Given the description of an element on the screen output the (x, y) to click on. 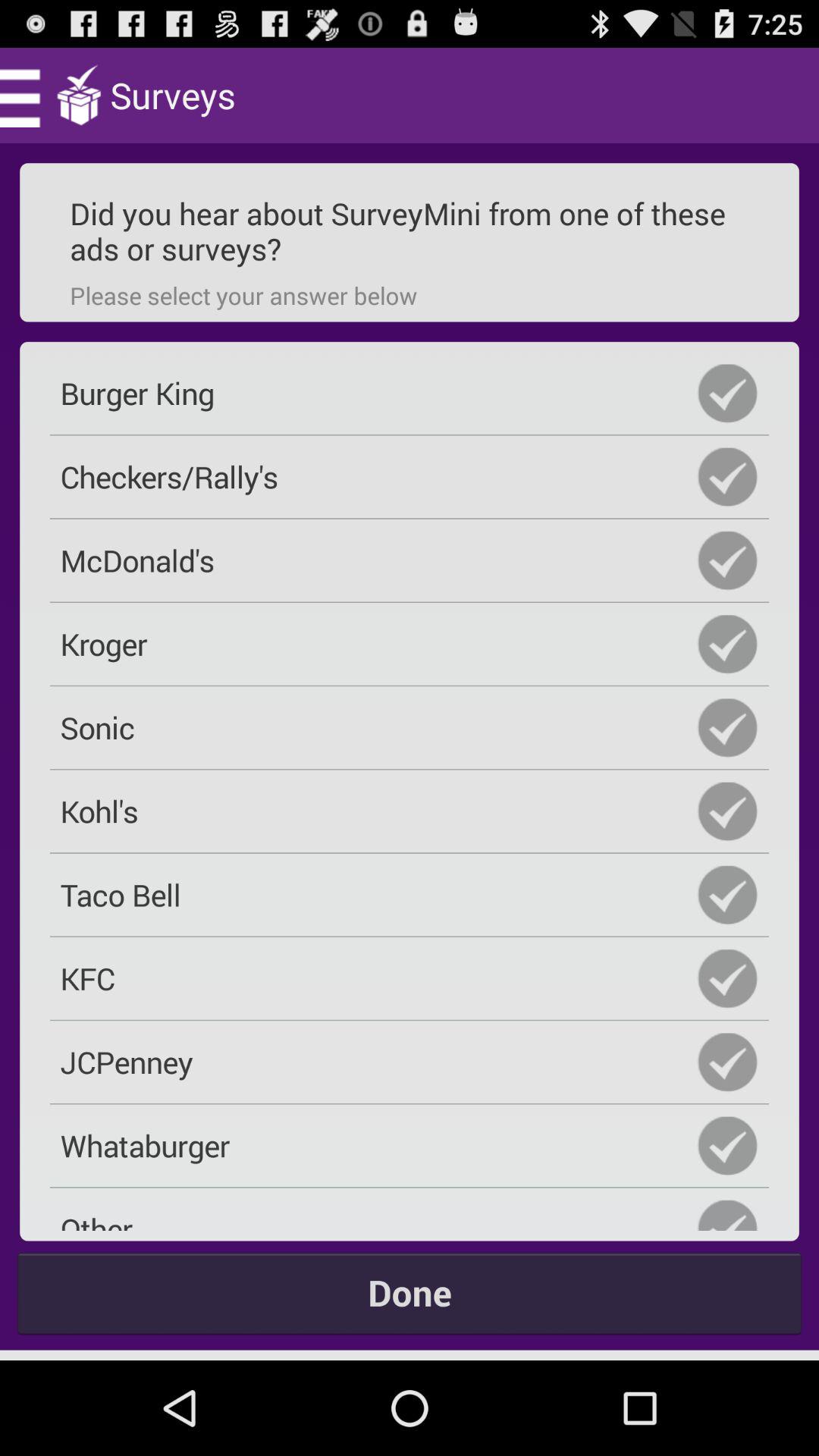
swipe until done icon (409, 1292)
